Given the description of an element on the screen output the (x, y) to click on. 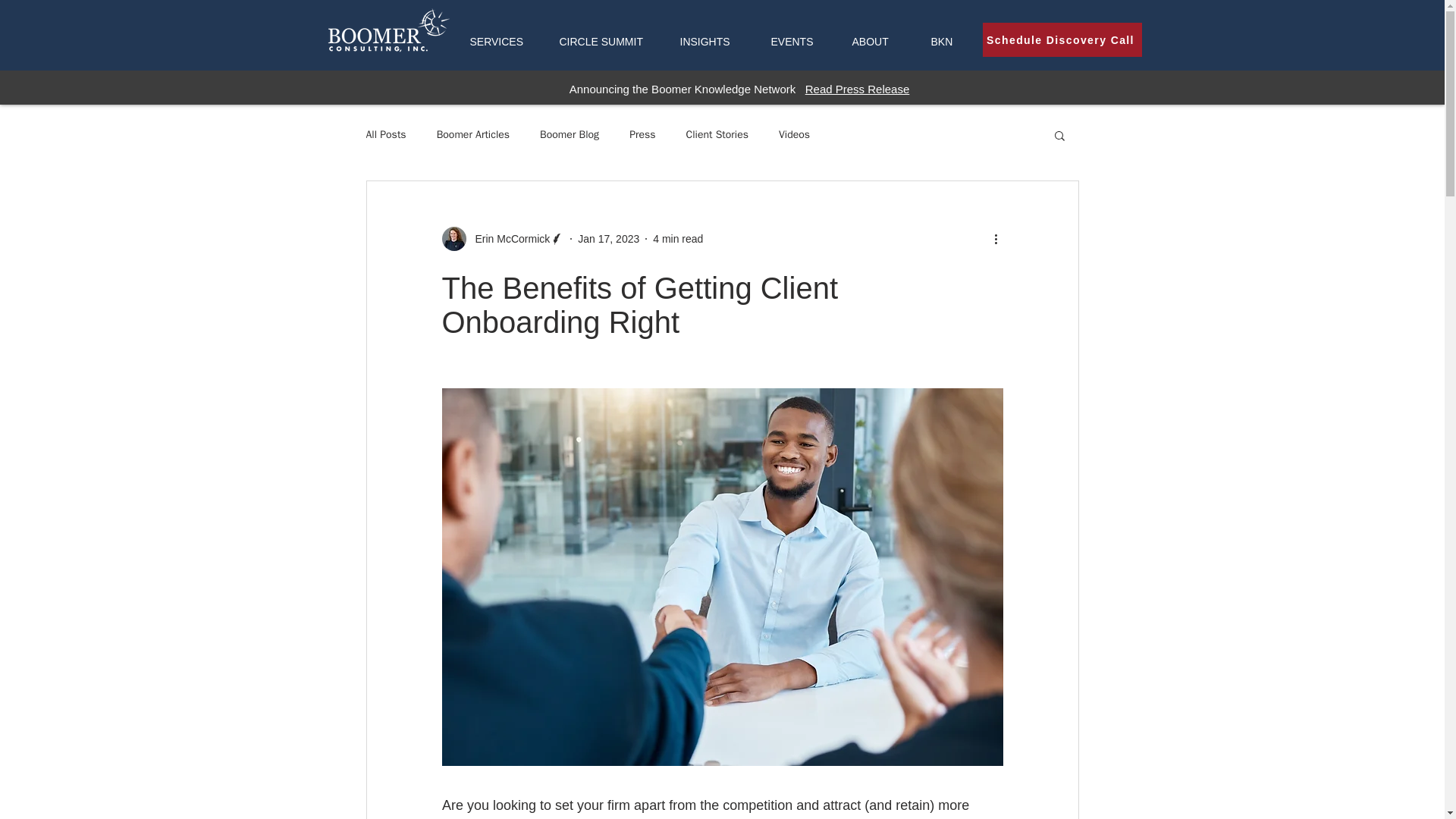
4 min read (677, 237)
BKN (951, 41)
Press (641, 134)
All Posts (385, 134)
Videos (793, 134)
Erin McCormick (502, 238)
Schedule Discovery Call (1061, 39)
Boomer Blog (569, 134)
Erin McCormick (507, 238)
SERVICES (502, 41)
Announcing the Boomer Knowledge Network   Read Press Release (739, 88)
CIRCLE SUMMIT (607, 41)
Jan 17, 2023 (608, 237)
Client Stories (716, 134)
Boomer Articles (472, 134)
